Given the description of an element on the screen output the (x, y) to click on. 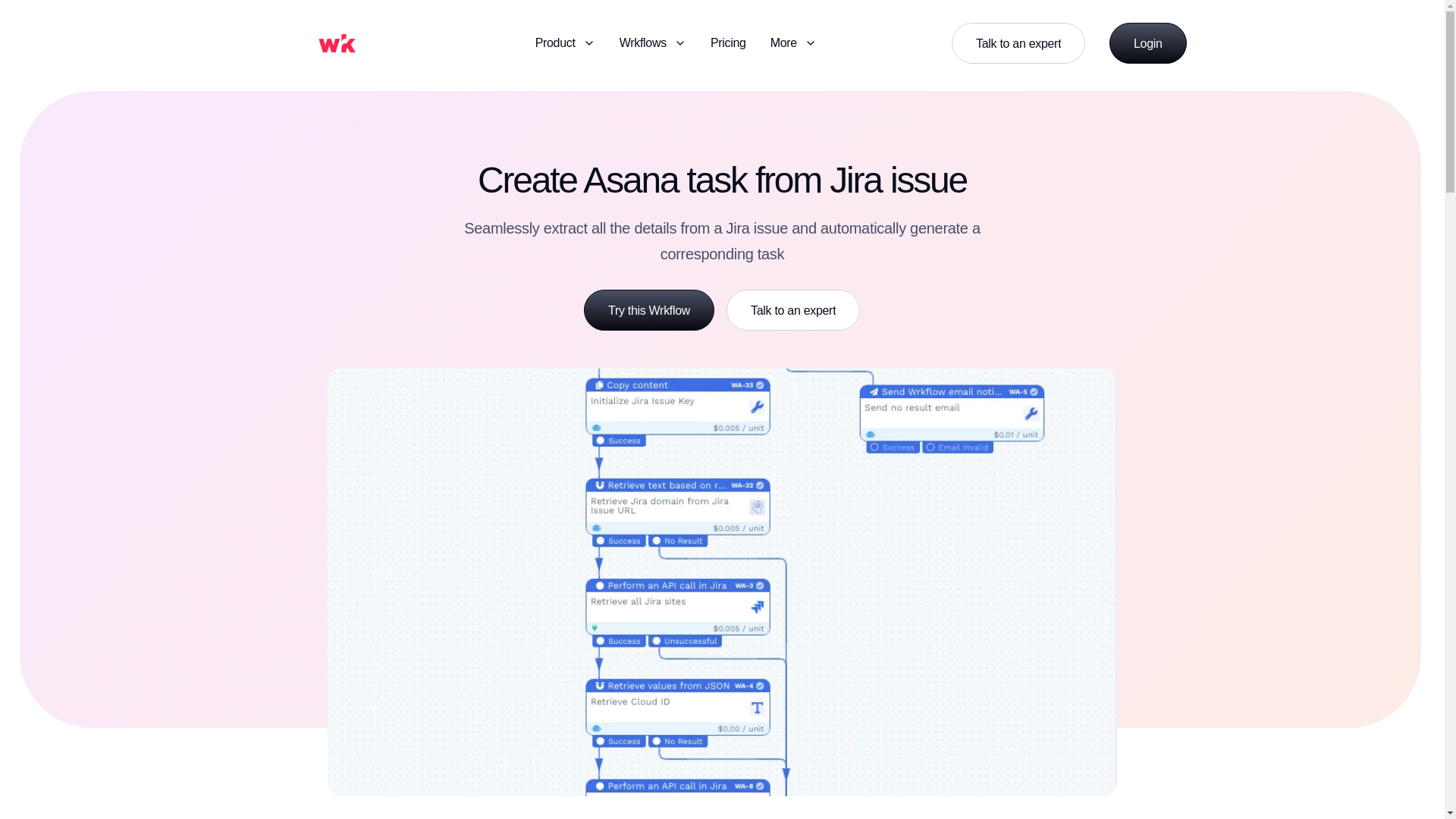
Wrkflows (652, 42)
Pricing (1147, 42)
Product (727, 42)
More (565, 42)
